Given the description of an element on the screen output the (x, y) to click on. 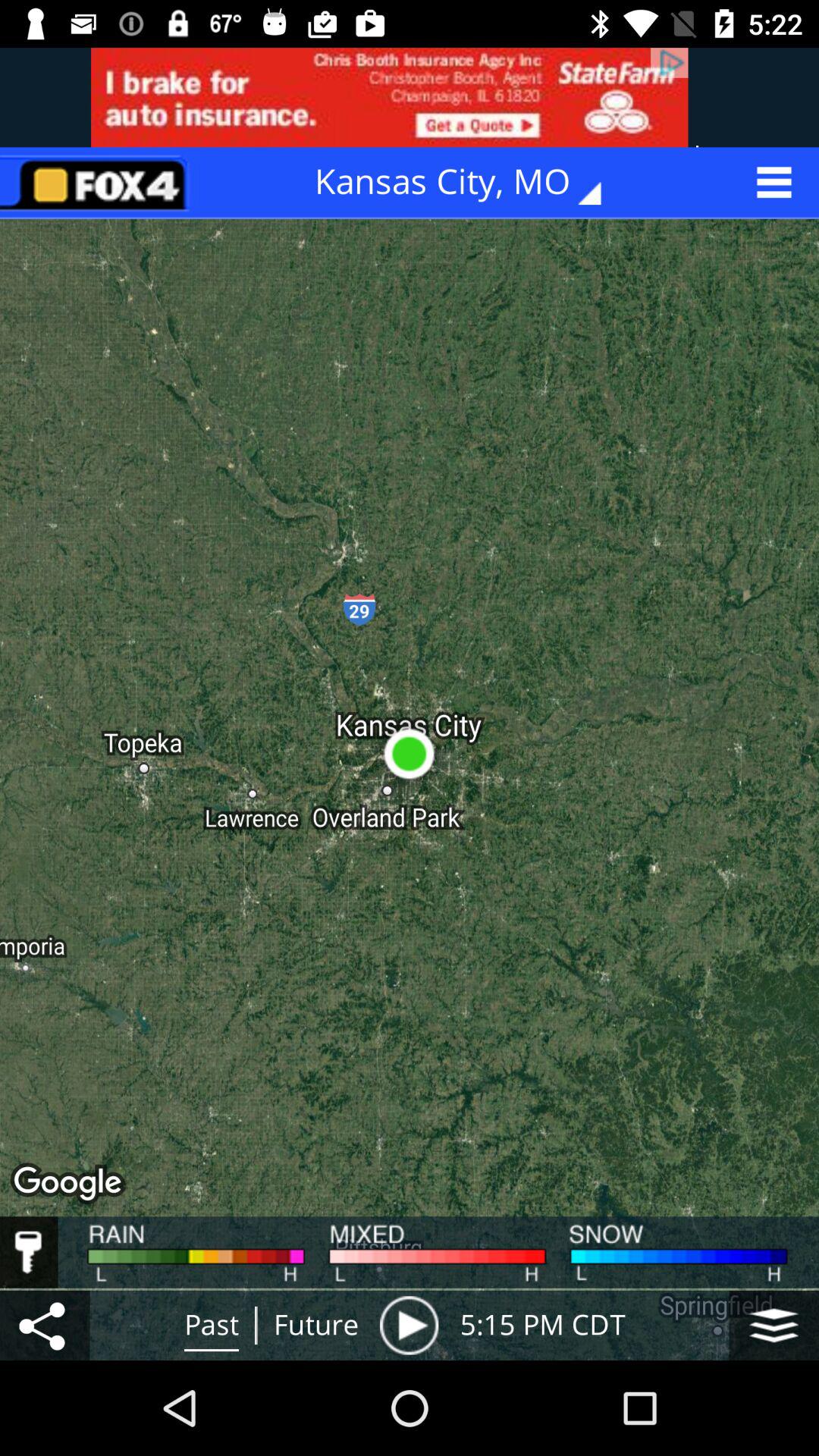
lock in the options (29, 1252)
